Given the description of an element on the screen output the (x, y) to click on. 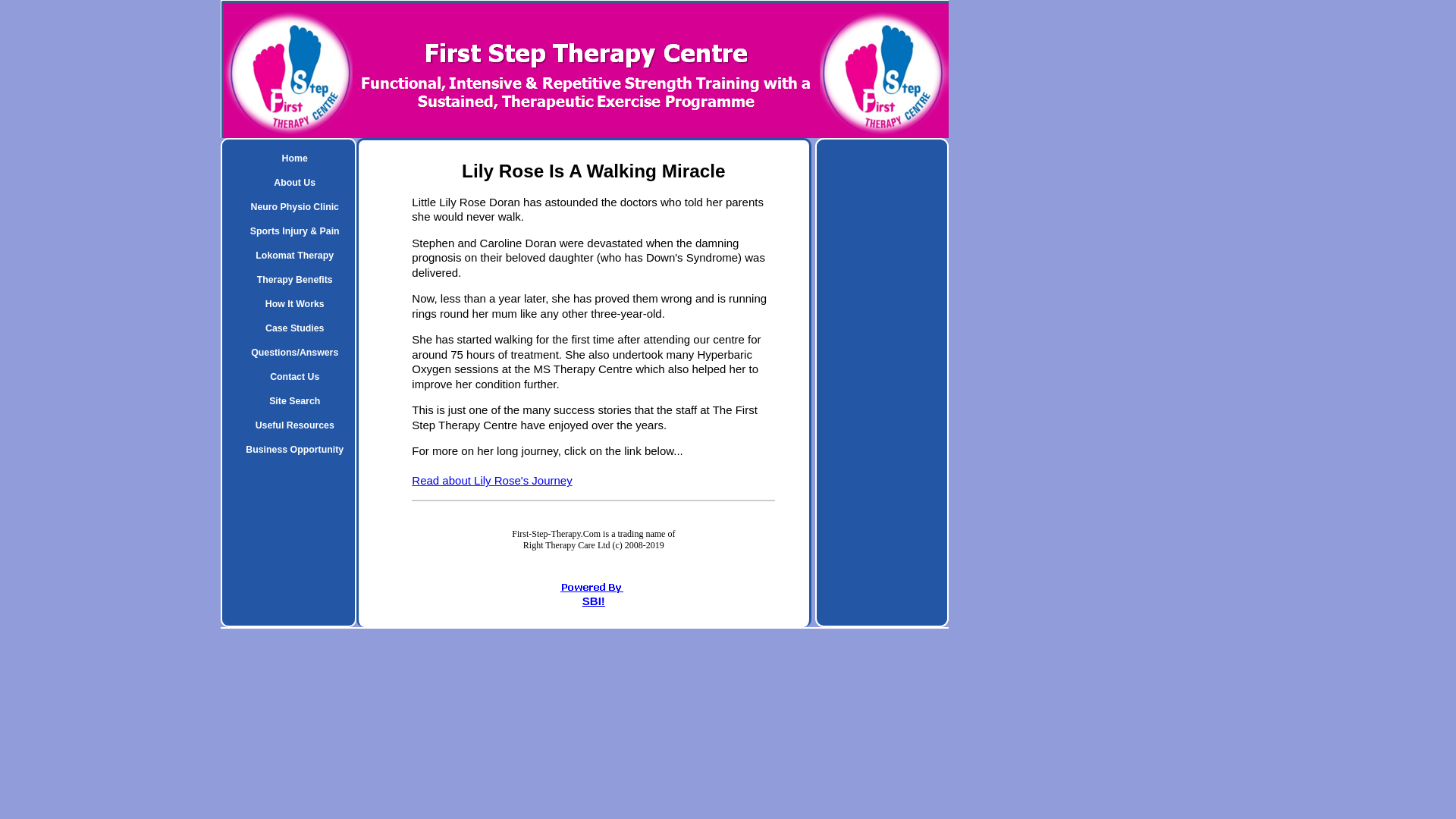
Lily Rose is a walking miracle (492, 480)
Useful Resources (294, 425)
Lokomat Therapy (294, 255)
Therapy Benefits (294, 279)
Case Studies (294, 328)
Neuro Physio Clinic (294, 206)
SBI! (593, 600)
Contact Us (294, 376)
Business Opportunity (294, 449)
Site Search (294, 401)
About Us (294, 182)
Read about Lily Rose's Journey (492, 480)
Home (294, 158)
How It Works (294, 303)
